Given the description of an element on the screen output the (x, y) to click on. 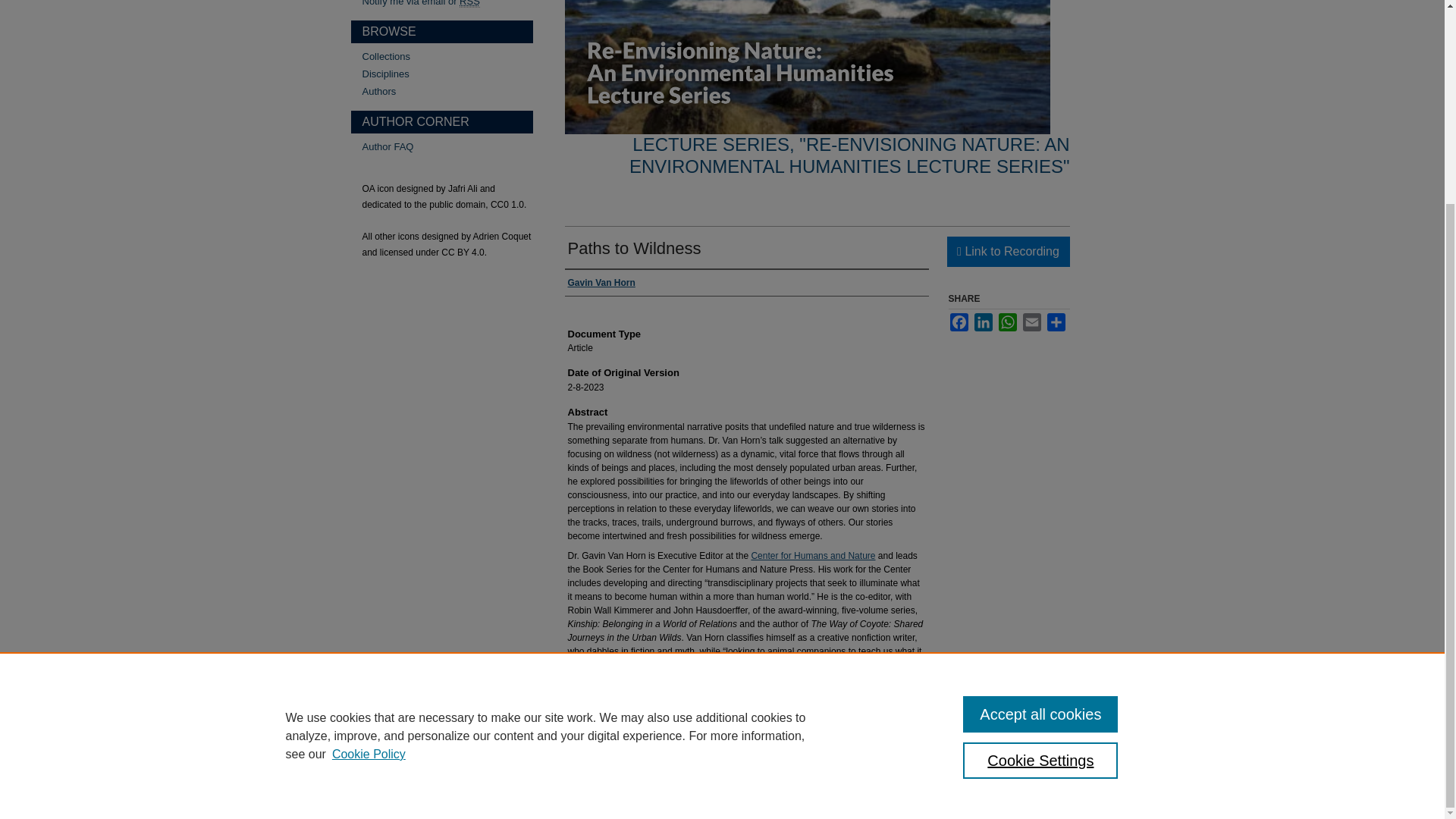
Author FAQ (447, 146)
Author FAQ (447, 146)
Browse by Author (447, 91)
Home (568, 776)
Email (1031, 321)
Authors (447, 91)
Email or RSS Notifications (447, 3)
Disciplines (447, 73)
LinkedIn (982, 321)
Link to Recording (1007, 251)
Facebook (958, 321)
Center for Humans and Nature (813, 555)
Collections (447, 56)
Really Simple Syndication (470, 3)
WhatsApp (1006, 321)
